Given the description of an element on the screen output the (x, y) to click on. 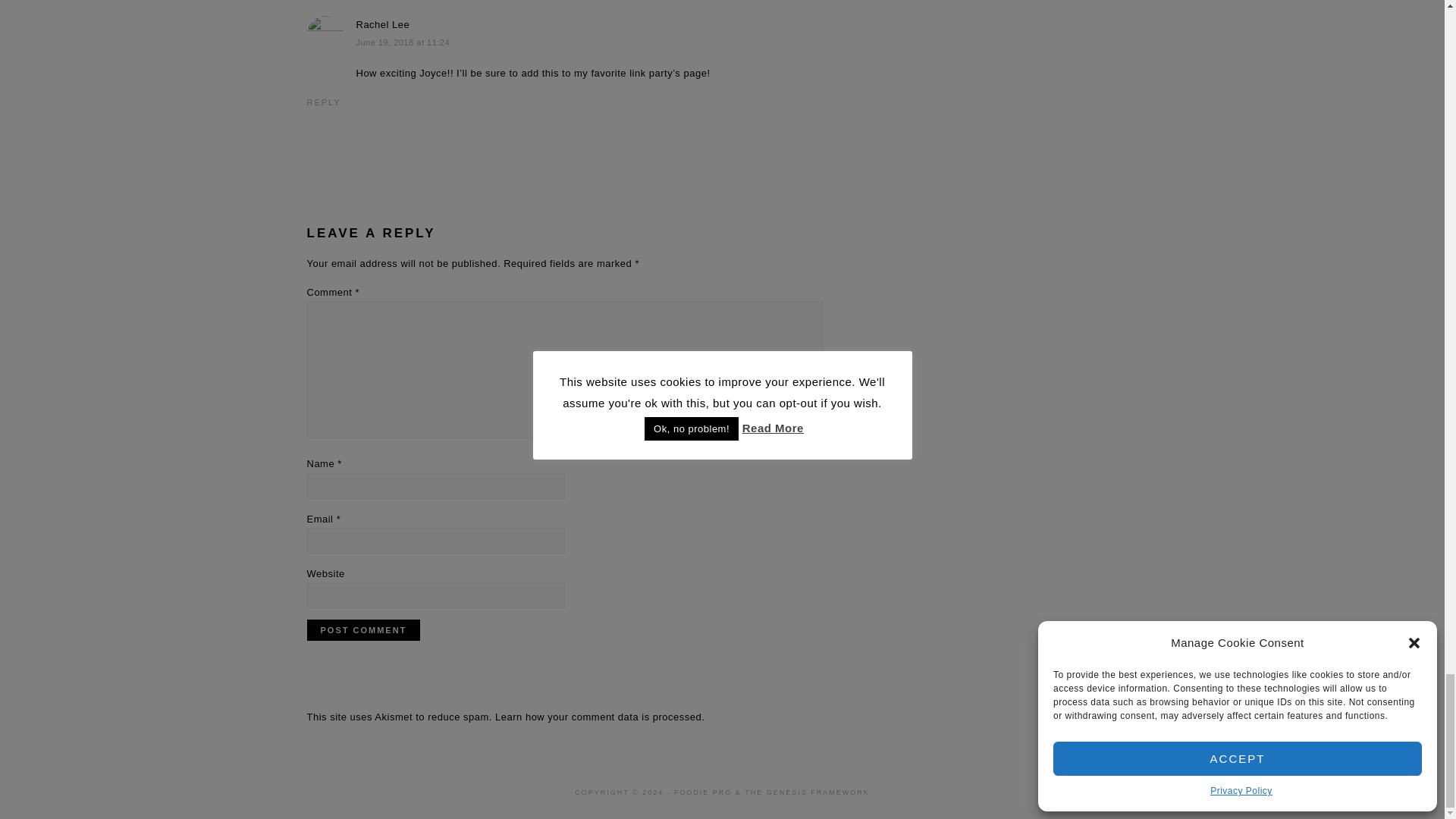
Post Comment (362, 629)
